Given the description of an element on the screen output the (x, y) to click on. 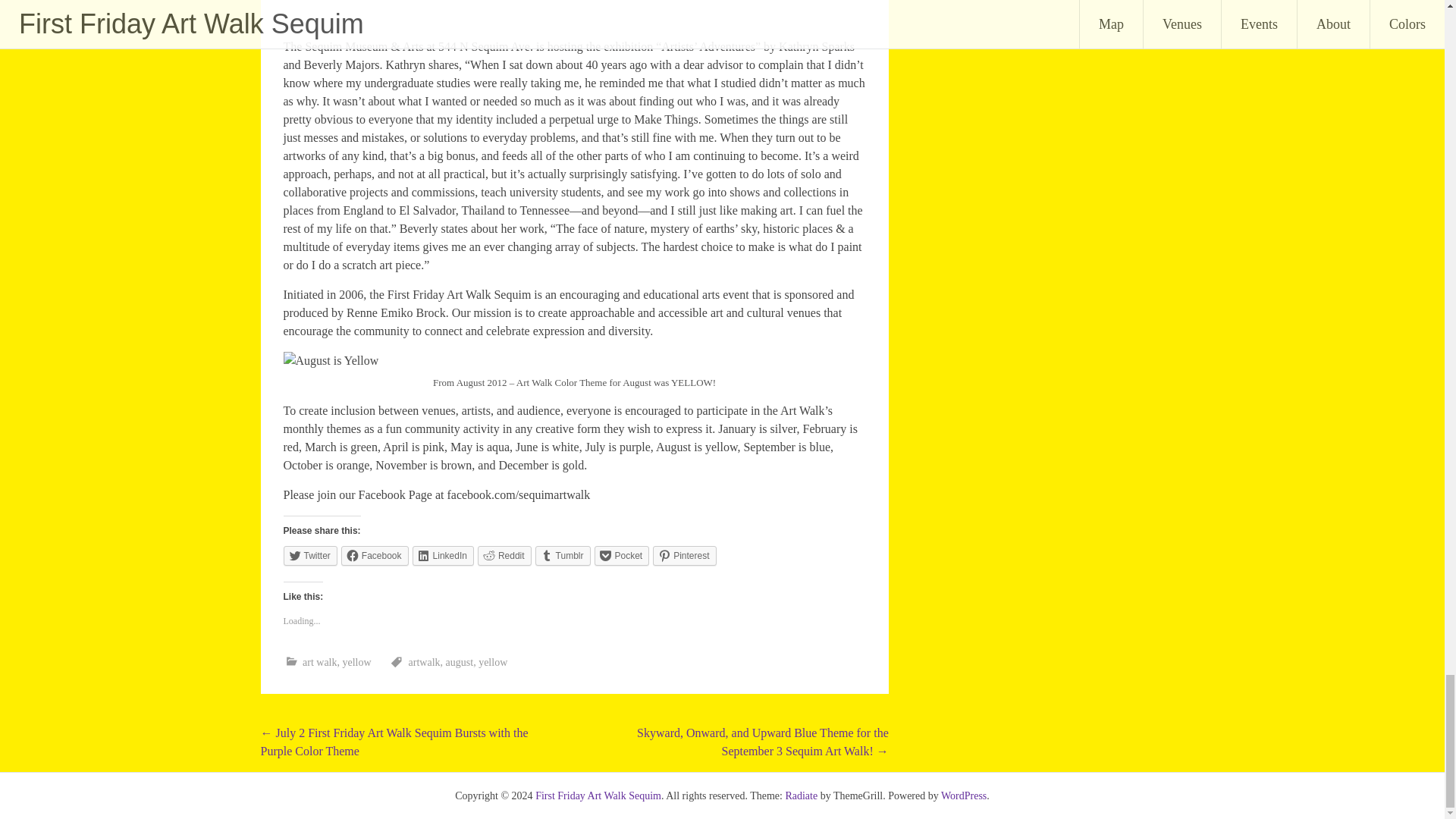
Click to share on Tumblr (563, 555)
yellow (356, 662)
First Friday Art Walk Sequim (598, 795)
Pinterest (684, 555)
First Friday Art Walk Sequim (598, 795)
artwalk (425, 662)
Radiate (800, 795)
Click to share on Pinterest (684, 555)
Tumblr (563, 555)
august (459, 662)
